Given the description of an element on the screen output the (x, y) to click on. 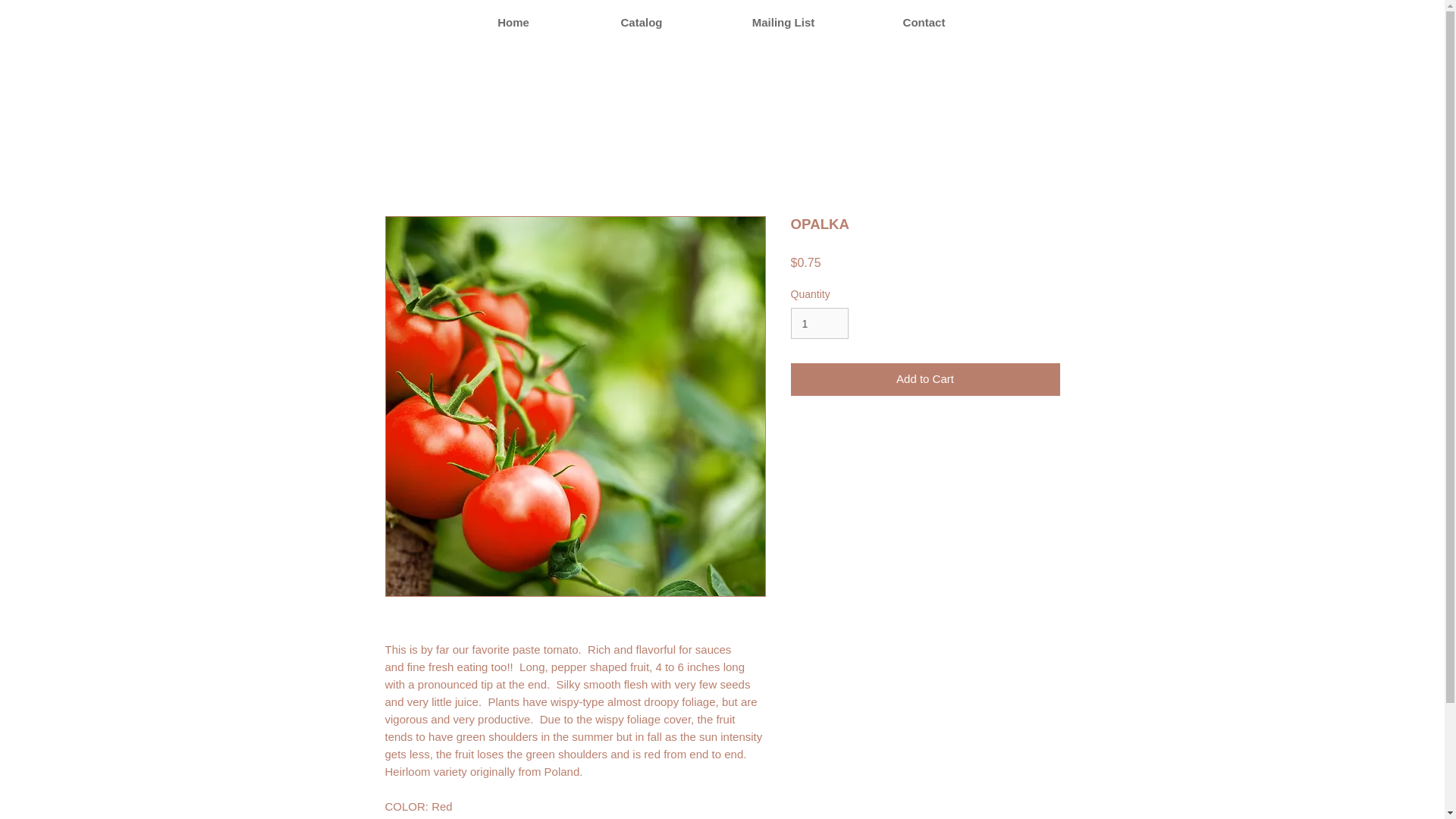
Contact (924, 22)
Mailing List (783, 22)
1 (818, 323)
Catalog (641, 22)
Add to Cart (924, 379)
Home (512, 22)
